Given the description of an element on the screen output the (x, y) to click on. 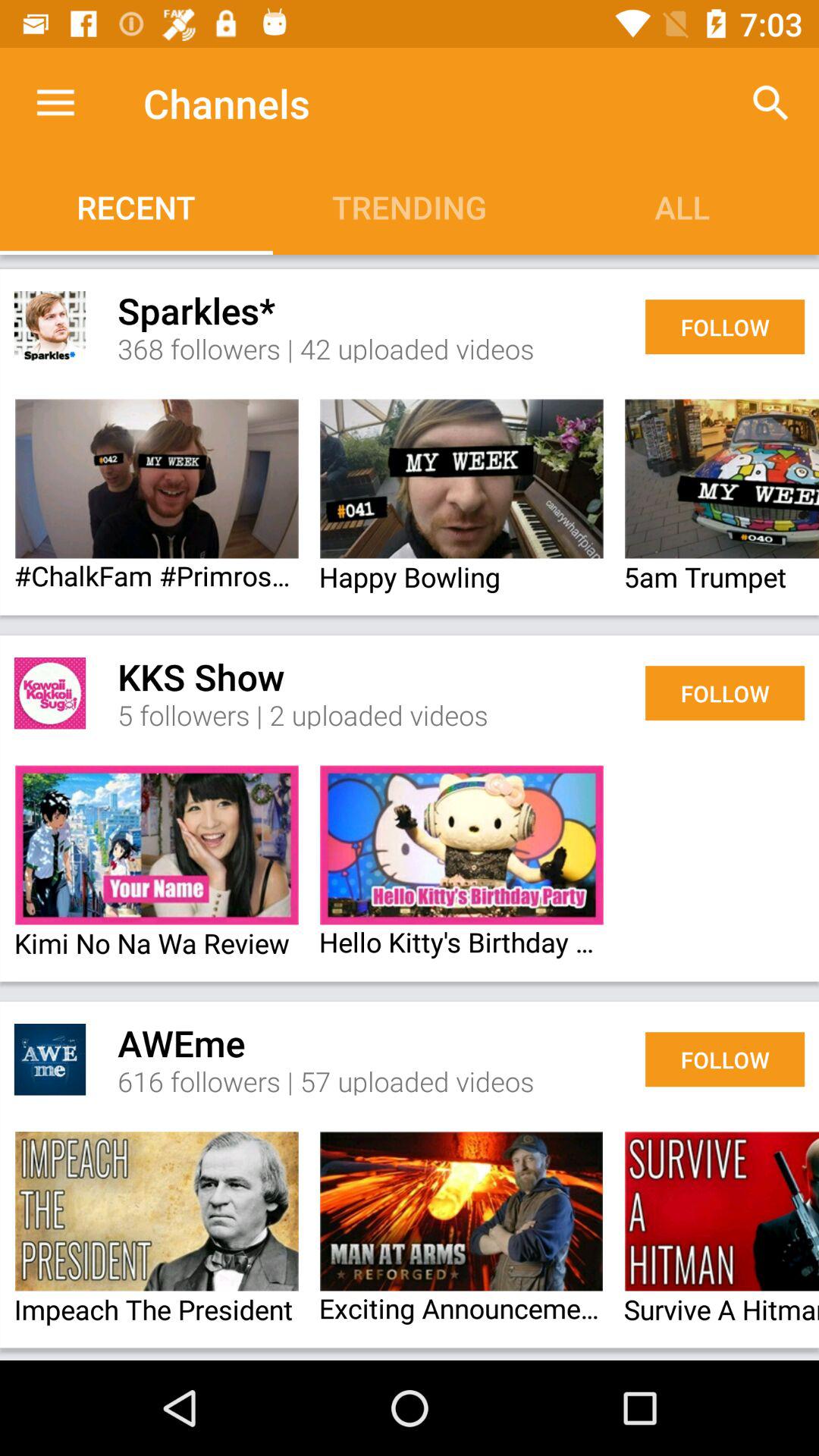
choose the item above recent icon (55, 103)
